Given the description of an element on the screen output the (x, y) to click on. 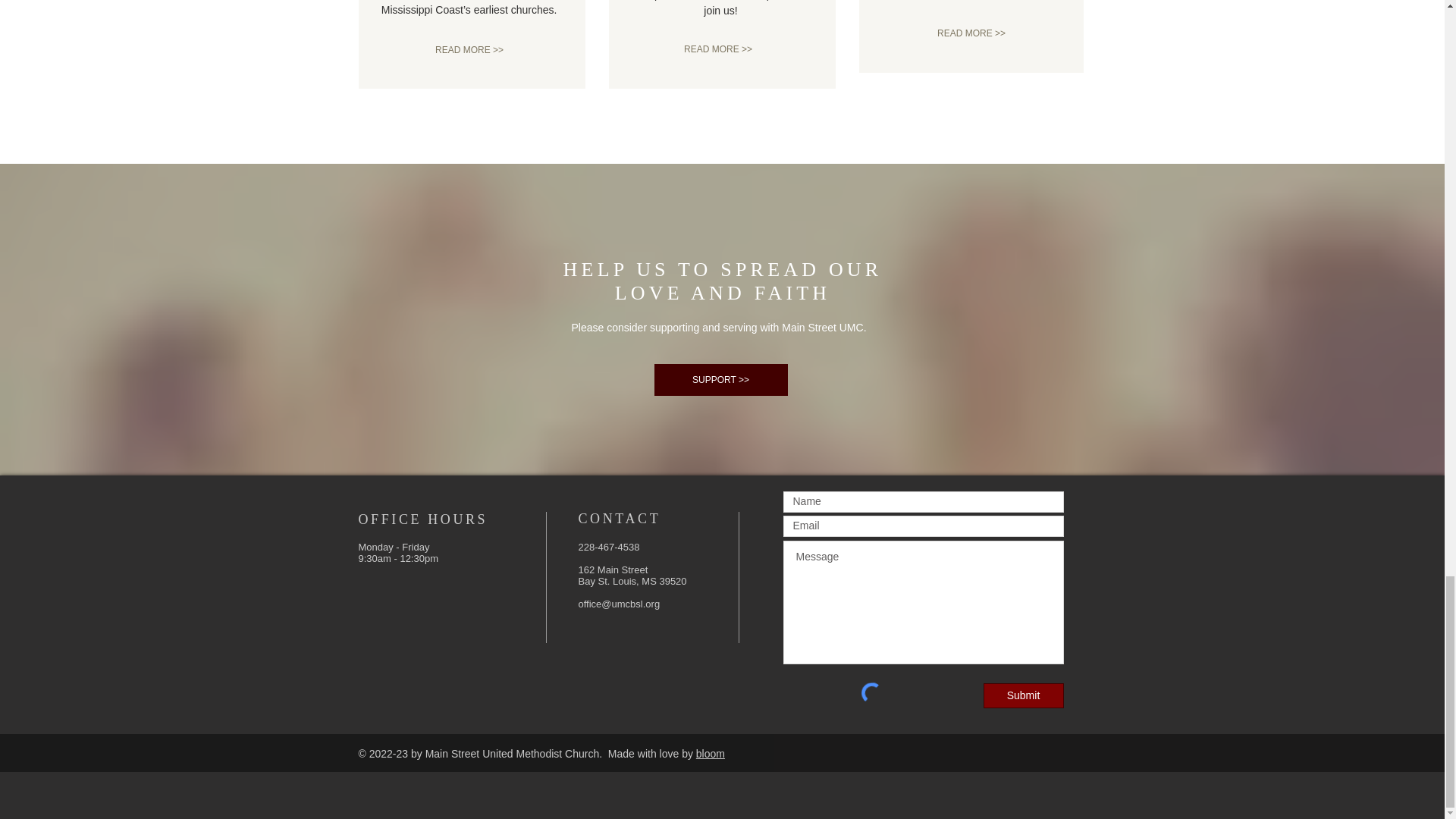
bloom (710, 753)
Submit (1022, 695)
